Given the description of an element on the screen output the (x, y) to click on. 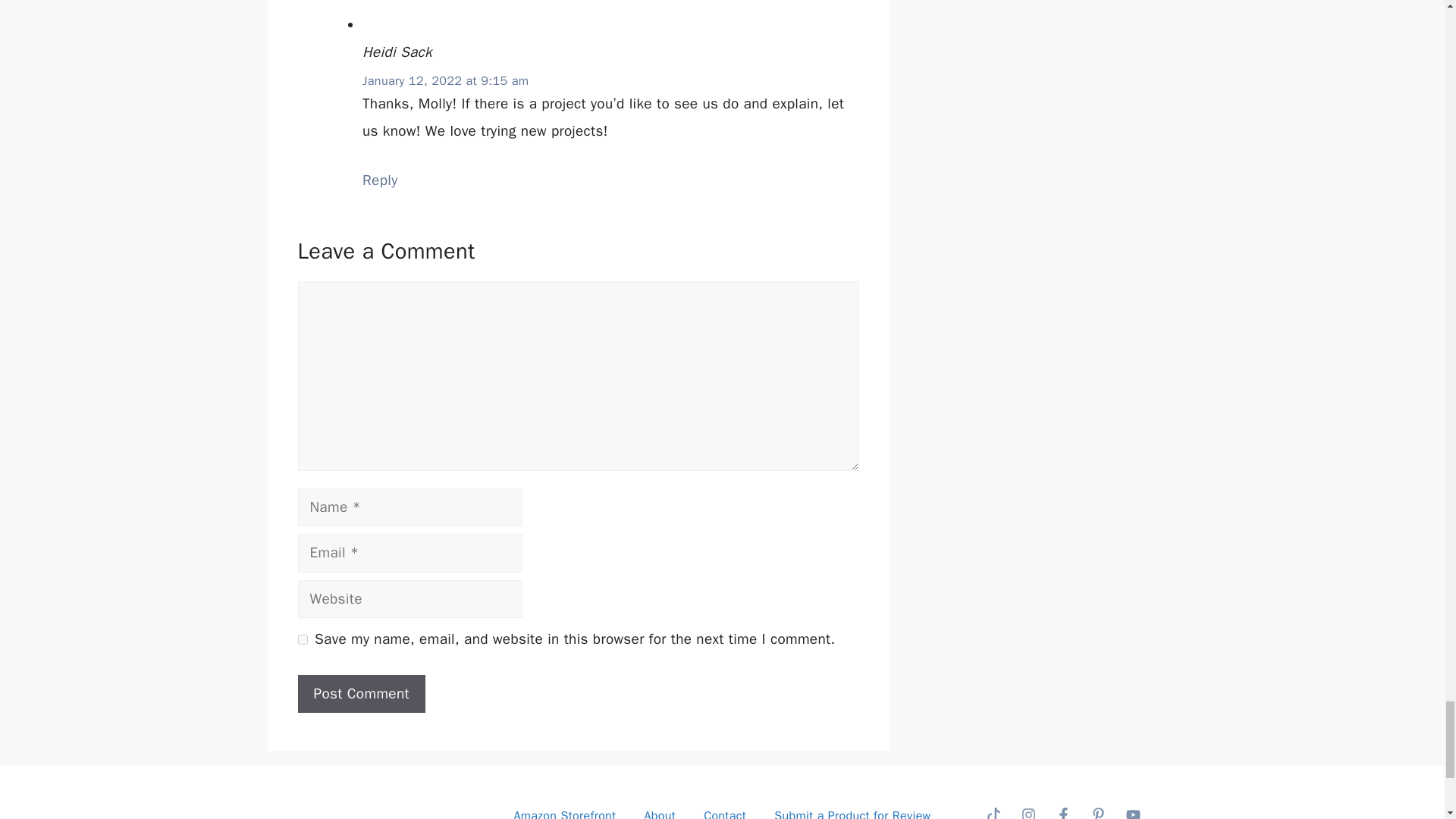
Post Comment (361, 693)
Color-logo-footer (374, 807)
yes (302, 639)
Post Comment (361, 693)
January 12, 2022 at 9:15 am (445, 80)
Reply (379, 180)
